Given the description of an element on the screen output the (x, y) to click on. 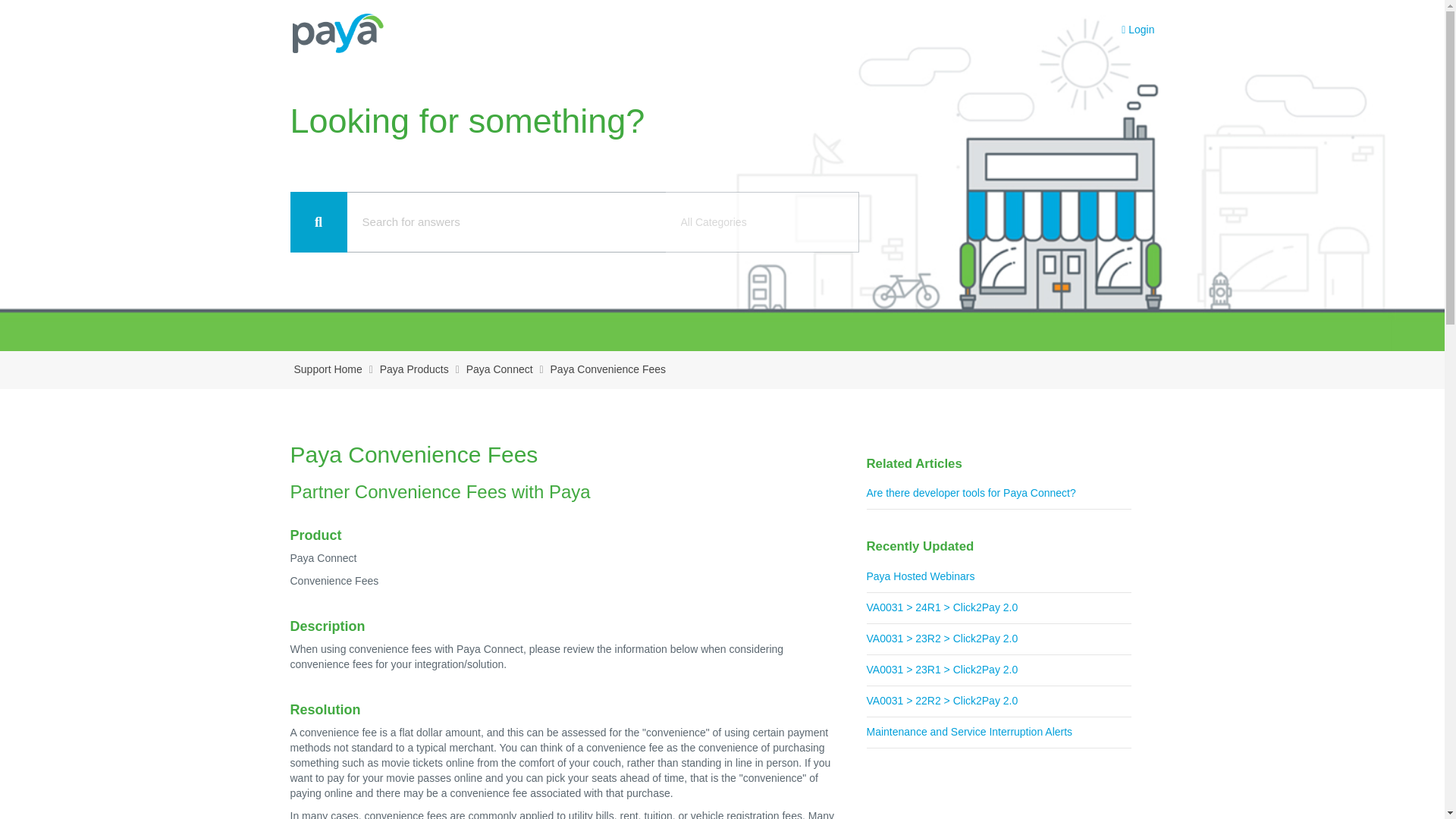
Are there developer tools for Paya Connect? (998, 493)
Paya Convenience Fees (608, 369)
Paya Products (414, 369)
Paya Hosted Webinars (998, 576)
Support Home (328, 369)
Maintenance and Service Interruption Alerts (998, 732)
Login (1137, 29)
Paya Connect (498, 369)
